Given the description of an element on the screen output the (x, y) to click on. 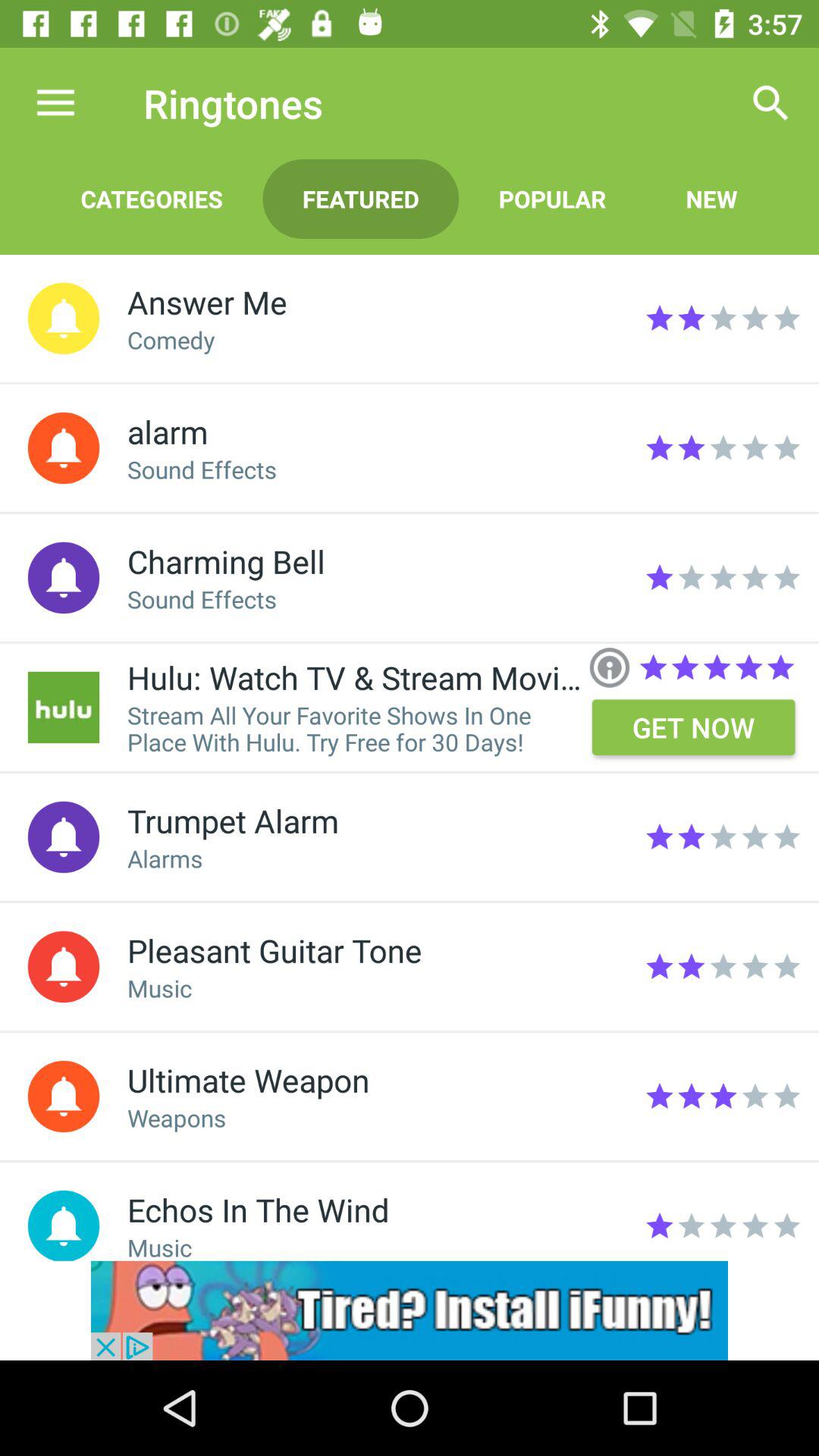
visit ifunny advertisement (409, 1310)
